Given the description of an element on the screen output the (x, y) to click on. 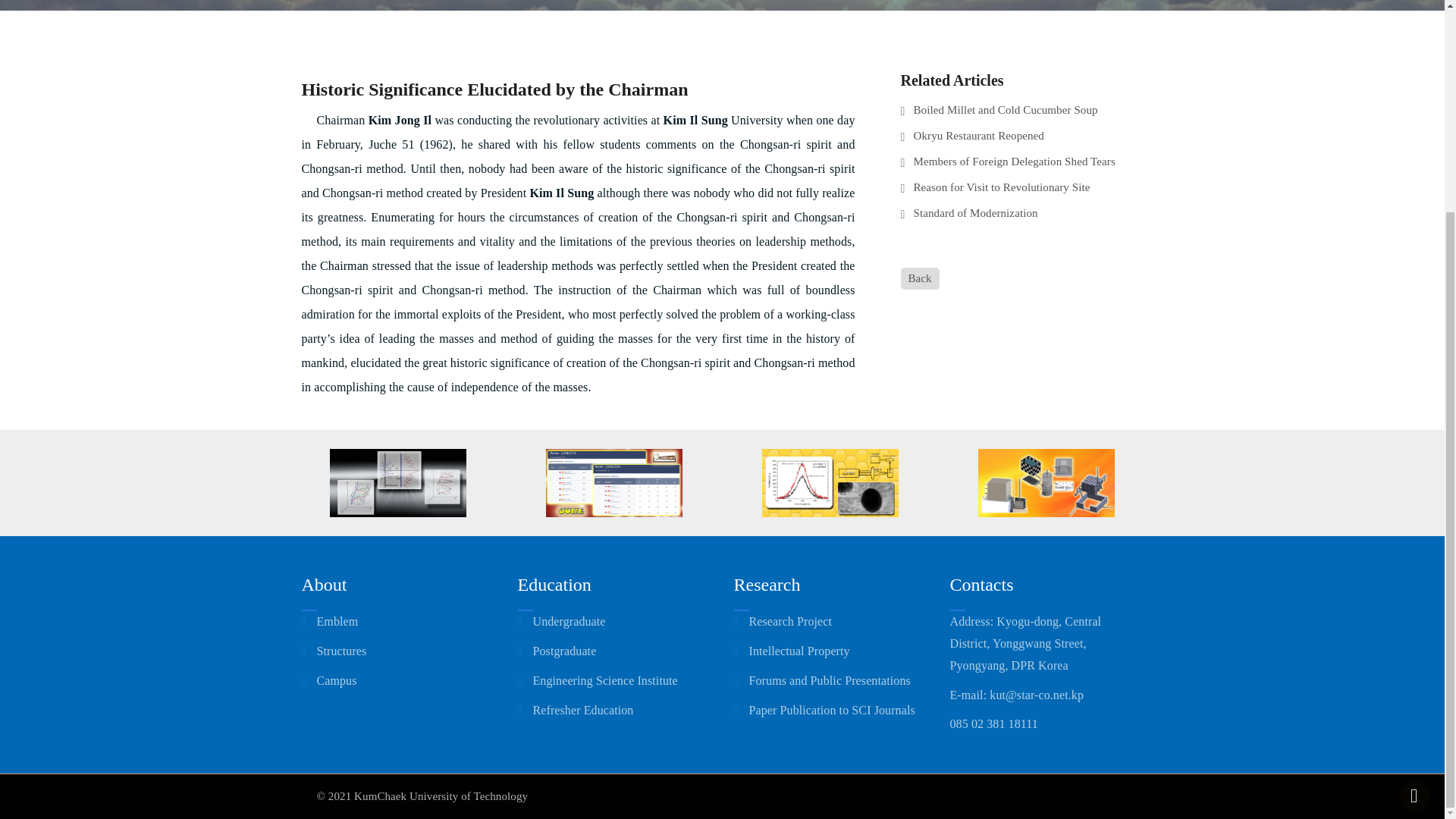
Winning Streak in Codechef Challenges (613, 482)
Various Types of Energy Conservational Boilers (1045, 482)
